Given the description of an element on the screen output the (x, y) to click on. 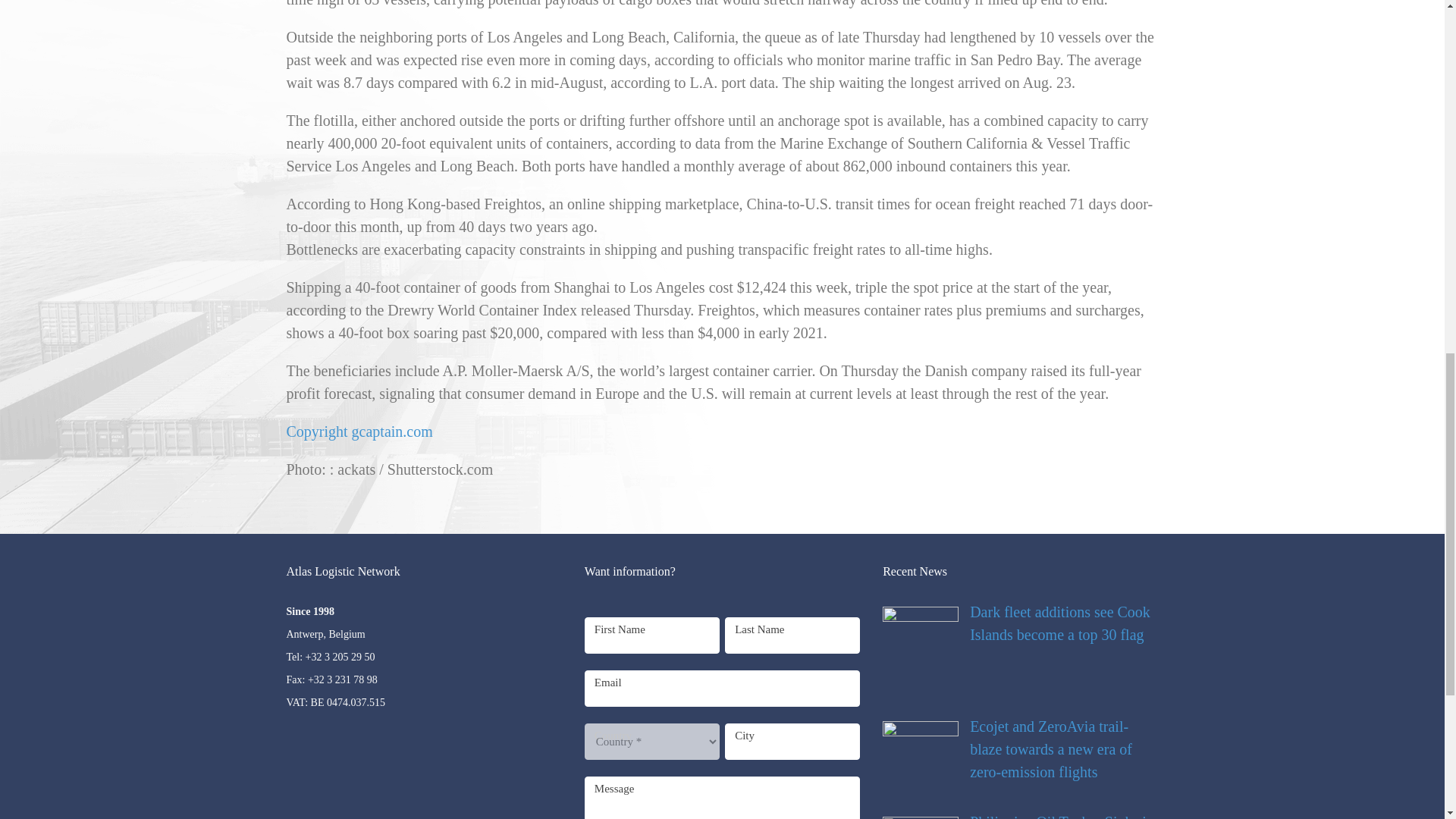
Dark fleet additions see Cook Islands become a top 30 flag (1019, 623)
Copyright gcaptain.com (359, 431)
